Given the description of an element on the screen output the (x, y) to click on. 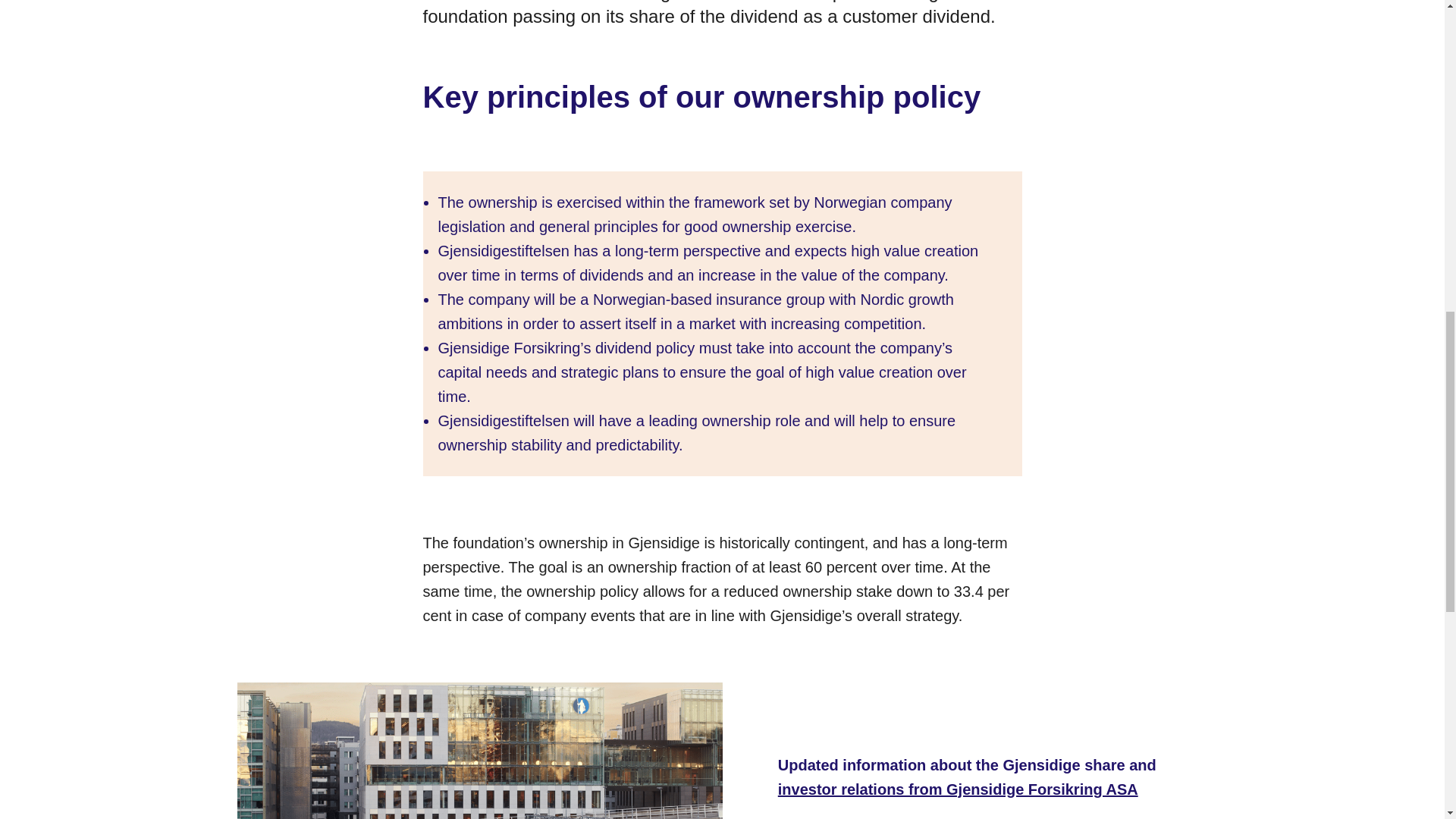
investor relations from Gjensidige Forsikring ASA (957, 789)
